Given the description of an element on the screen output the (x, y) to click on. 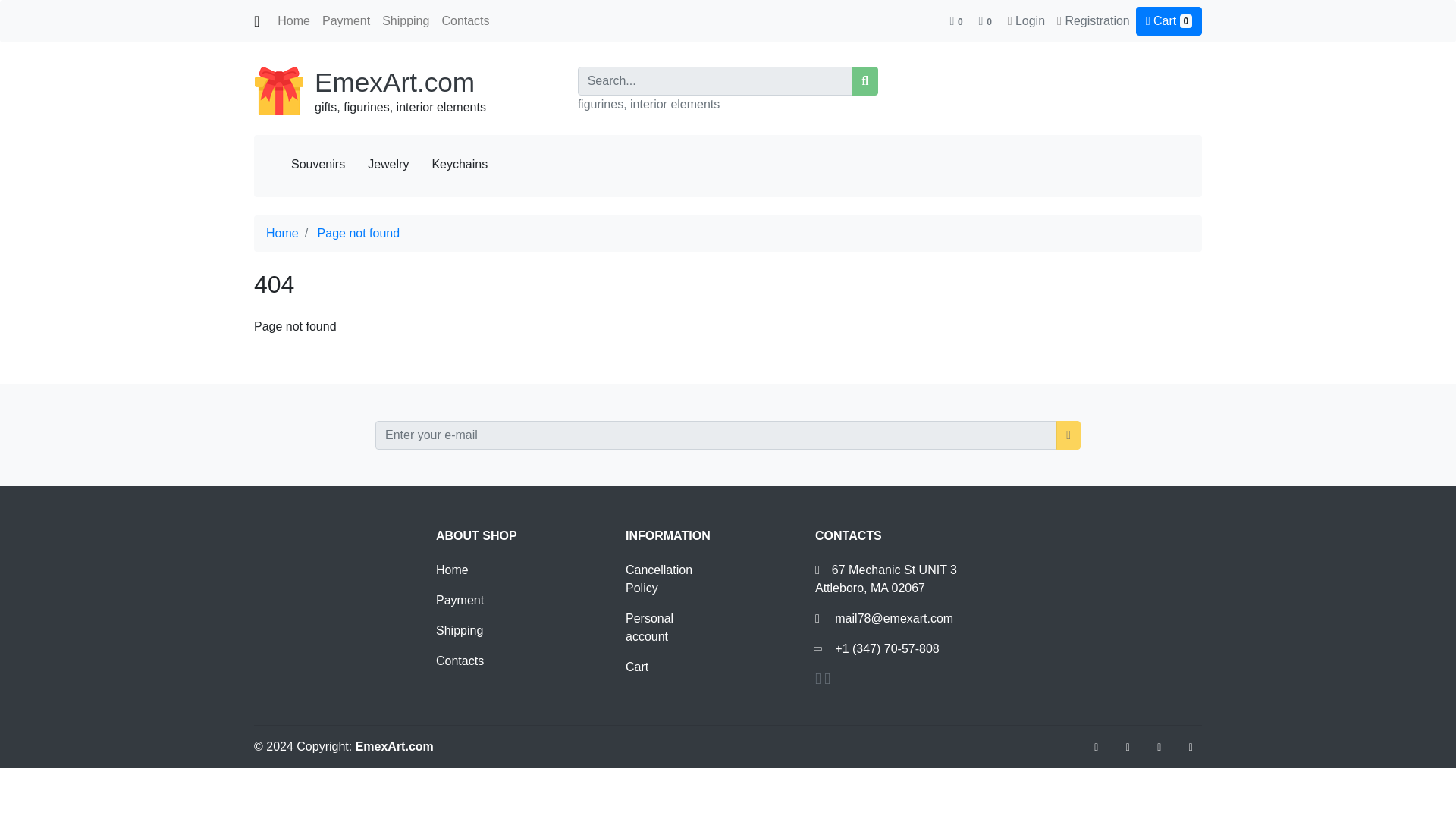
0 (986, 20)
Contacts (459, 660)
Payment (345, 20)
EmexArt.com (394, 82)
Page not found (358, 232)
Login (1029, 20)
Souvenirs (318, 164)
Cancellation Policy (659, 578)
Home (451, 569)
Keychains (459, 164)
